Given the description of an element on the screen output the (x, y) to click on. 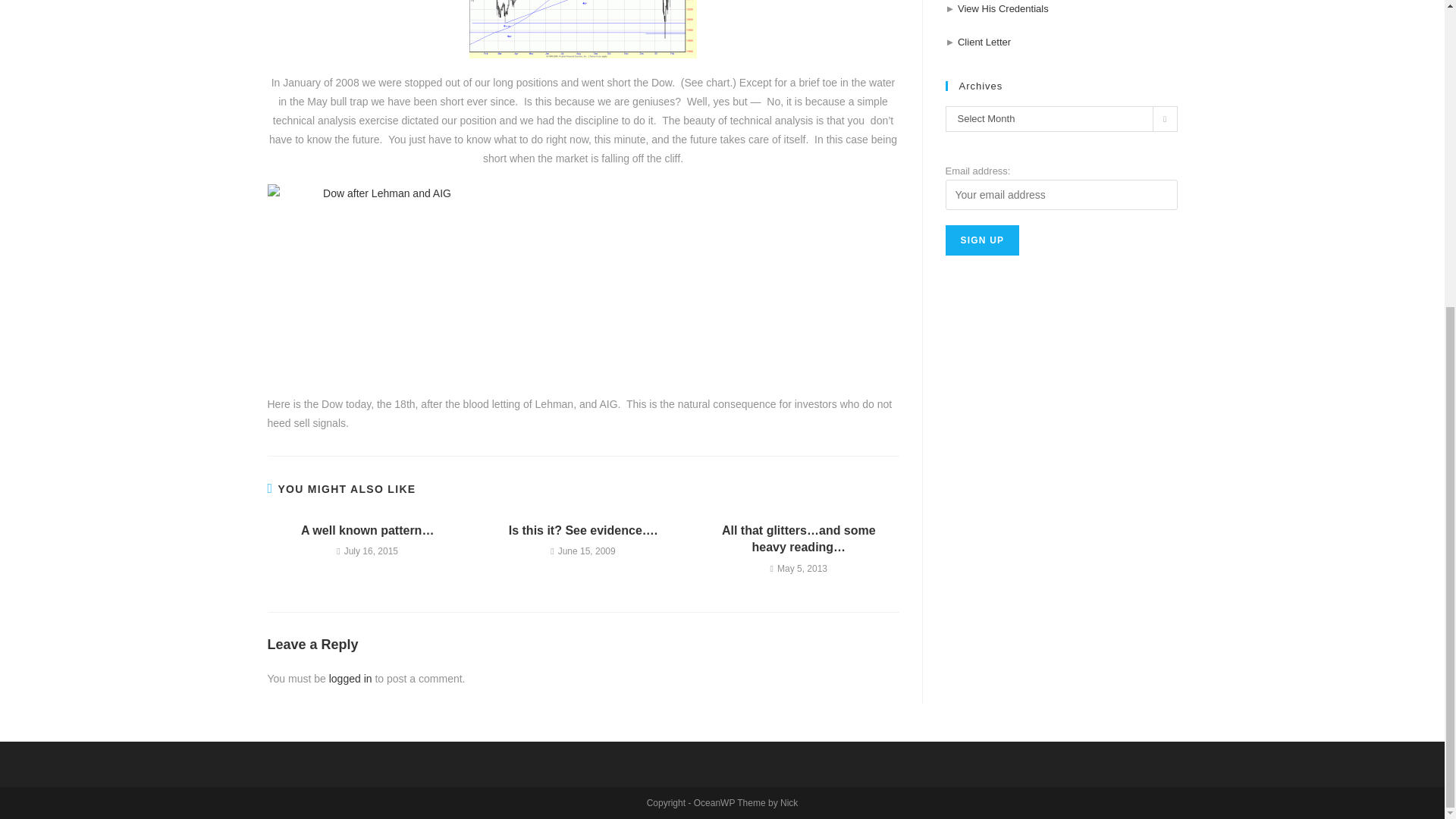
Sign up (981, 240)
Sign up (981, 240)
indujan08stop3 (582, 29)
logged in (350, 678)
View His Credentials (1003, 8)
091808indu (380, 282)
Client Letter (984, 41)
